Given the description of an element on the screen output the (x, y) to click on. 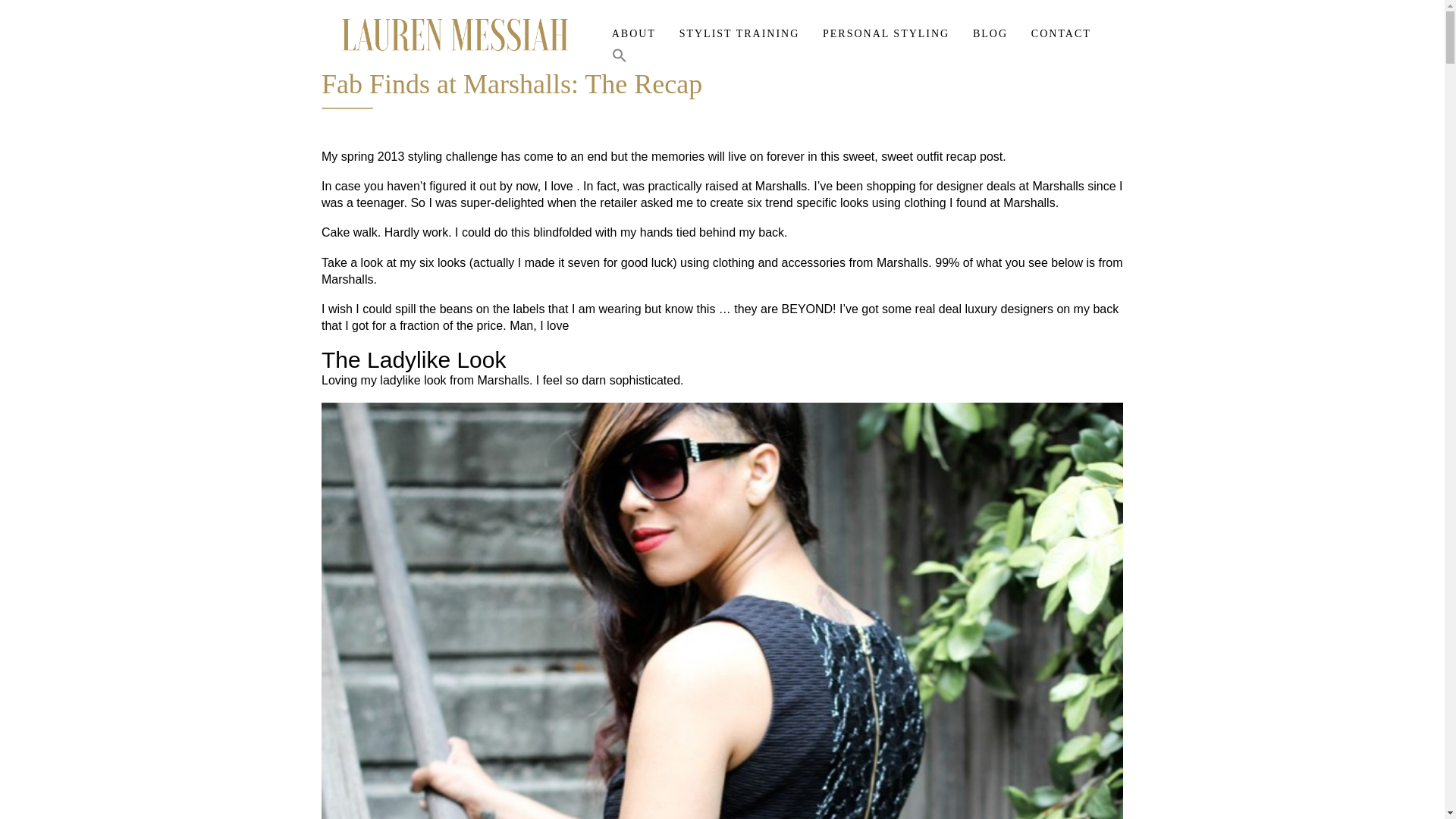
BLOG (989, 35)
STYLIST TRAINING (739, 35)
ABOUT (633, 35)
CONTACT (1060, 35)
PERSONAL STYLING (885, 35)
